Given the description of an element on the screen output the (x, y) to click on. 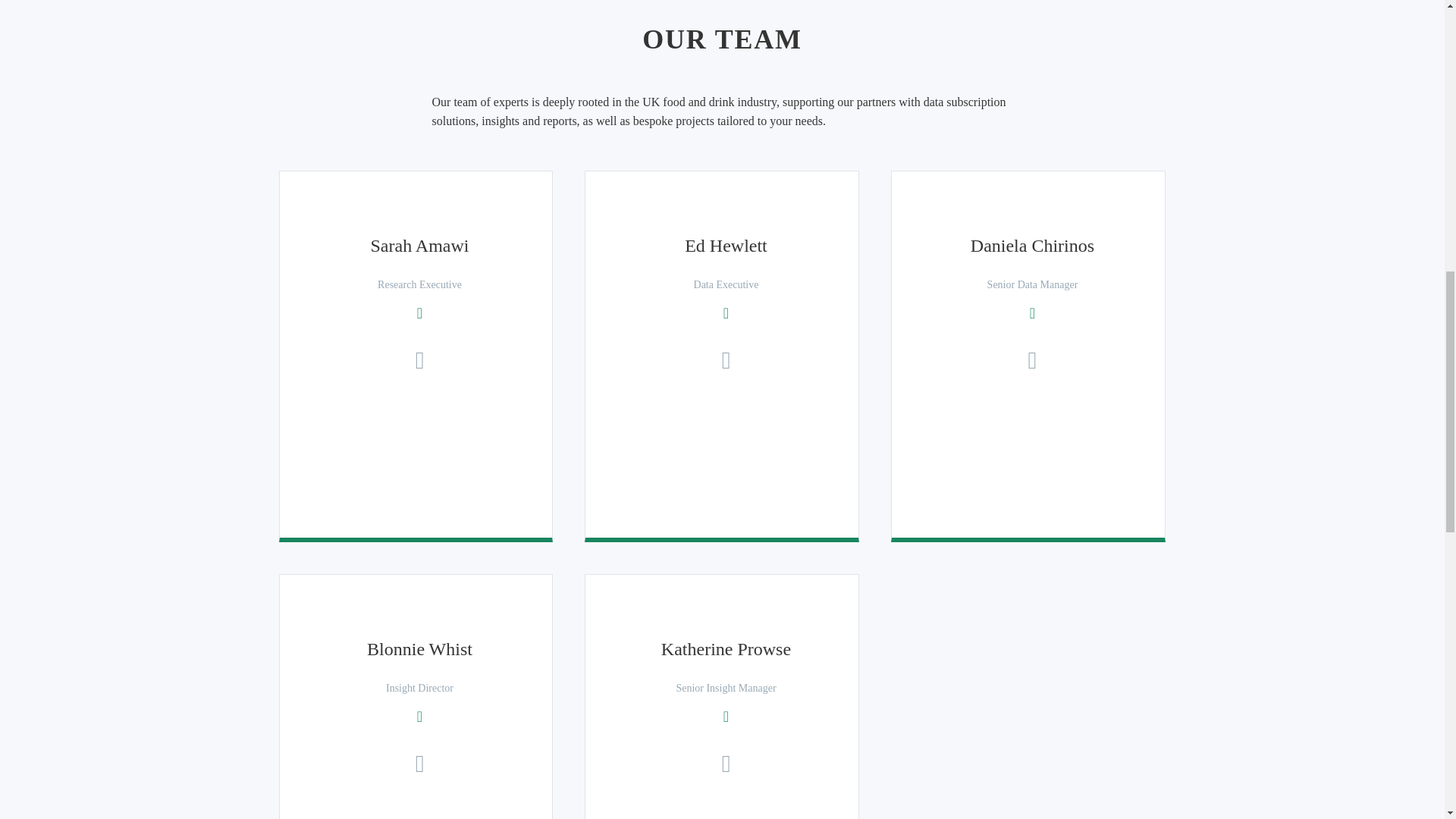
LinkedIn (1032, 313)
LinkedIn (725, 716)
LinkedIn (725, 313)
LinkedIn (419, 313)
LinkedIn (419, 716)
